Given the description of an element on the screen output the (x, y) to click on. 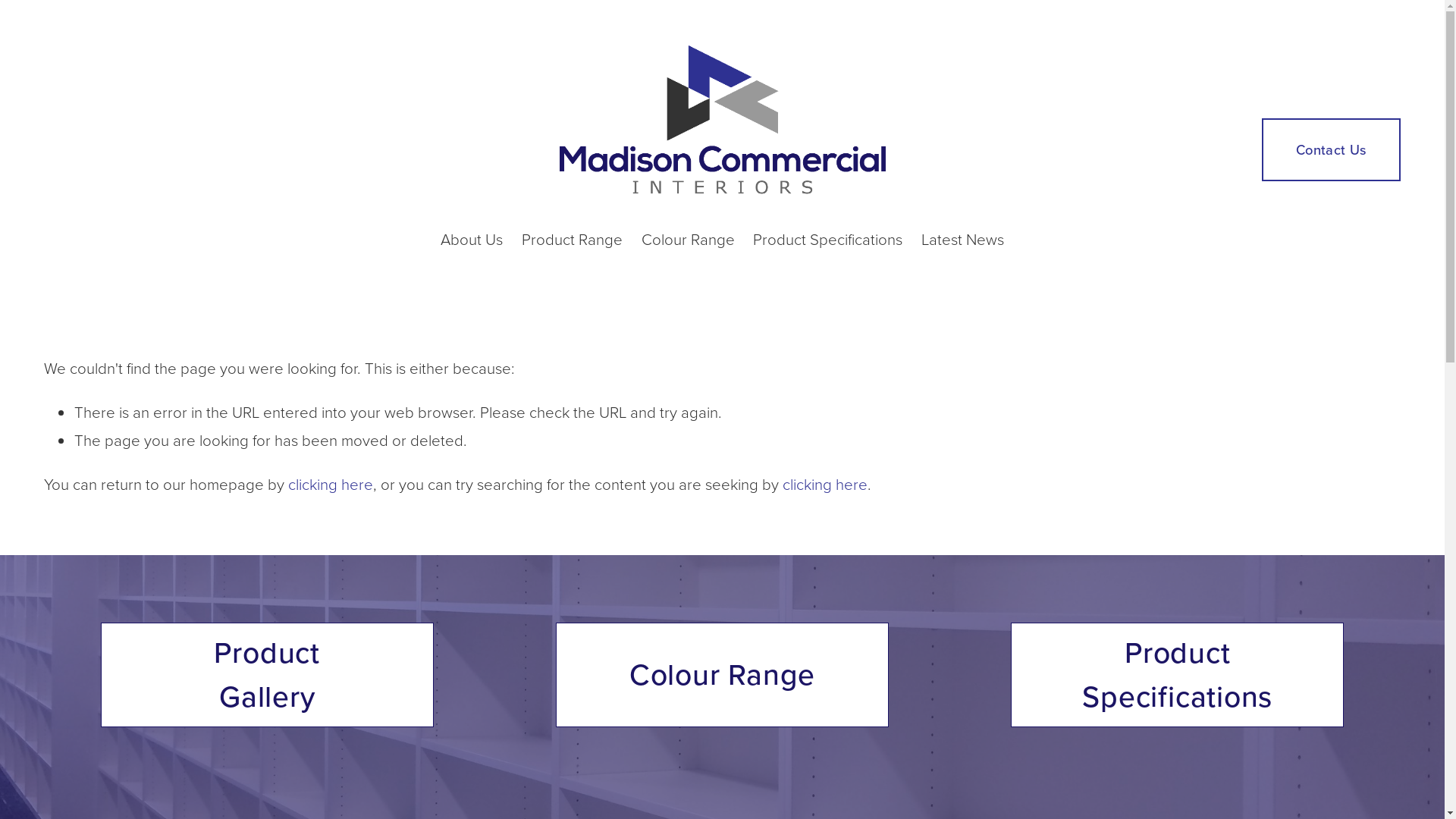
Colour Range Element type: text (687, 239)
Contact Us Element type: text (1330, 149)
Product Specifications Element type: text (827, 239)
Product Specifications Element type: text (1176, 674)
Product Range Element type: text (571, 239)
Colour Range Element type: text (721, 674)
Latest News Element type: text (962, 239)
About Us Element type: text (471, 239)
clicking here Element type: text (330, 484)
clicking here Element type: text (824, 484)
Product Gallery Element type: text (266, 674)
